Given the description of an element on the screen output the (x, y) to click on. 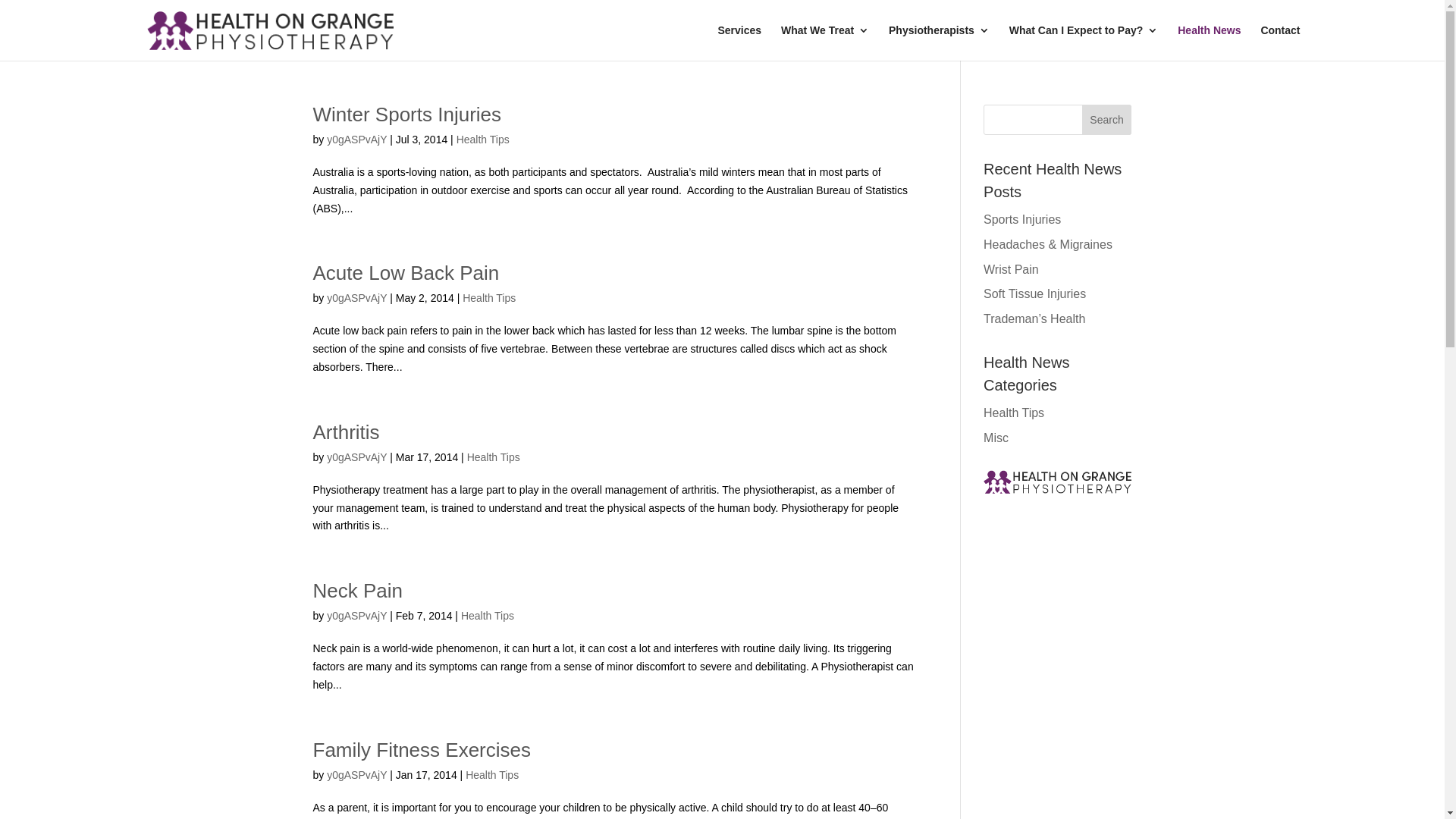
Health Tips Element type: text (1013, 412)
Acute Low Back Pain Element type: text (405, 272)
Wrist Pain Element type: text (1010, 269)
y0gASPvAjY Element type: text (356, 297)
Headaches & Migraines Element type: text (1047, 244)
Health Tips Element type: text (491, 774)
y0gASPvAjY Element type: text (356, 615)
Health Tips Element type: text (482, 139)
Sports Injuries Element type: text (1021, 219)
Physiotherapists Element type: text (938, 42)
Health Tips Element type: text (488, 297)
Health Tips Element type: text (493, 457)
y0gASPvAjY Element type: text (356, 774)
Health News Element type: text (1208, 42)
Contact Element type: text (1279, 42)
Services Element type: text (739, 42)
Winter Sports Injuries Element type: text (406, 114)
y0gASPvAjY Element type: text (356, 139)
Family Fitness Exercises Element type: text (421, 749)
Search Element type: text (1107, 119)
What Can I Expect to Pay? Element type: text (1083, 42)
Health Tips Element type: text (487, 615)
Soft Tissue Injuries Element type: text (1034, 293)
What We Treat Element type: text (825, 42)
y0gASPvAjY Element type: text (356, 457)
Misc Element type: text (995, 437)
Arthritis Element type: text (345, 431)
Neck Pain Element type: text (357, 590)
